Given the description of an element on the screen output the (x, y) to click on. 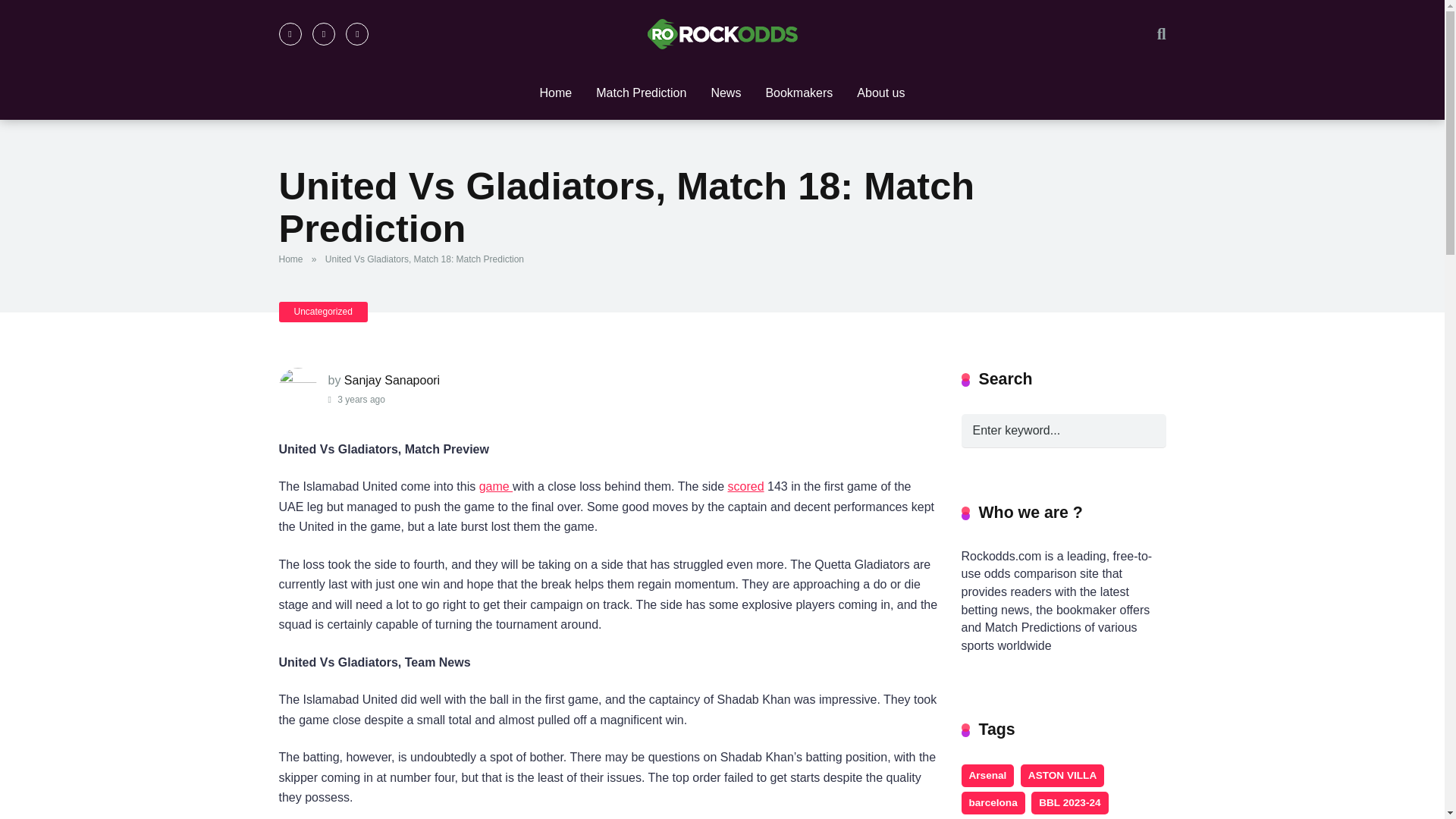
Twitter (323, 33)
game (495, 486)
Facebook (290, 33)
Match Prediction (640, 93)
Bookmakers (798, 93)
Home (556, 93)
BBL 2023-24 (1069, 802)
Posts by Sanjay Sanapoori (391, 379)
About us (880, 93)
Home (293, 258)
Uncategorized (323, 312)
barcelona (992, 802)
scored (746, 486)
ASTON VILLA (1061, 775)
News (725, 93)
